Given the description of an element on the screen output the (x, y) to click on. 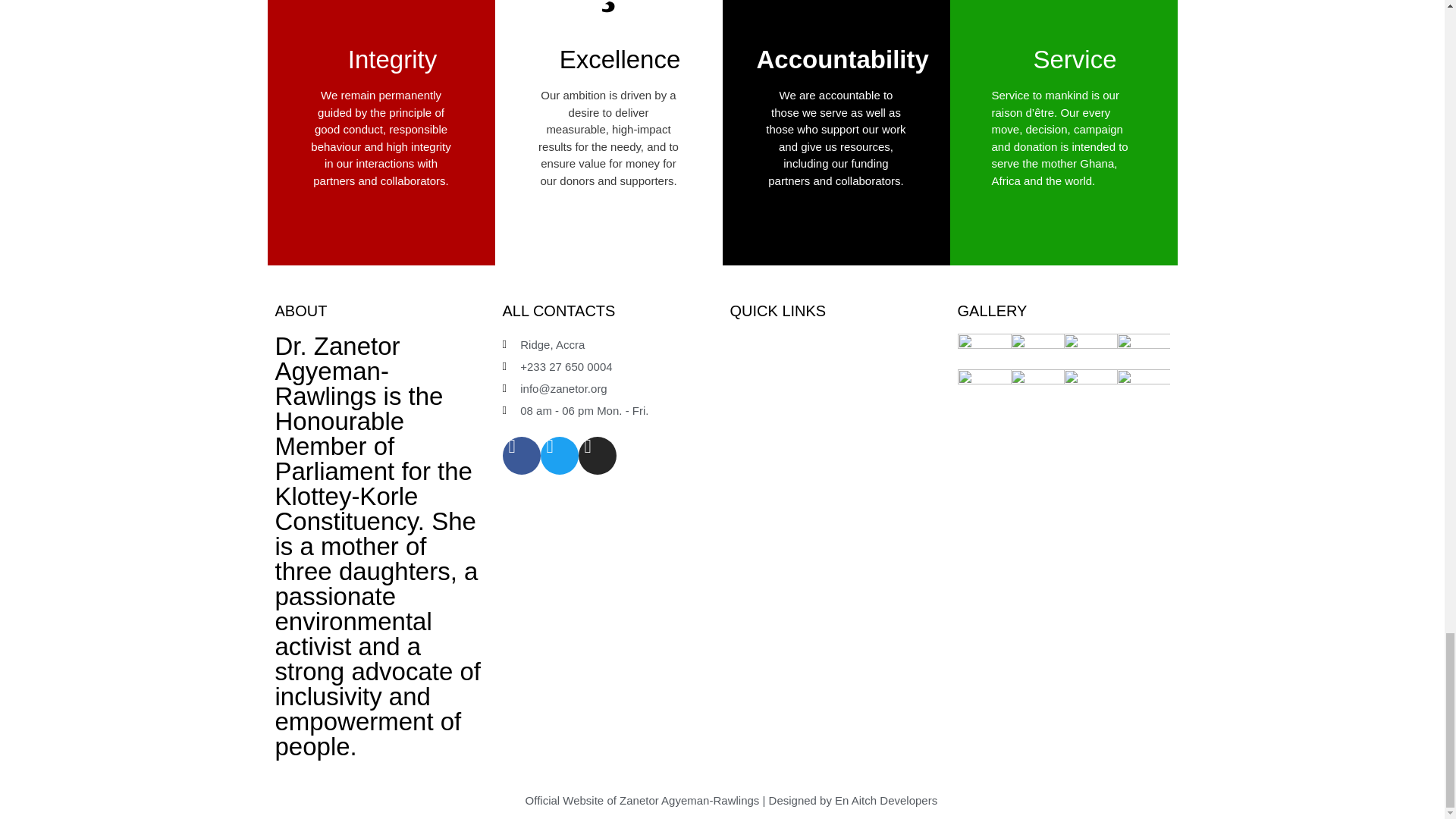
Ghana (745, 410)
Donate Now (760, 366)
Projects (749, 431)
About (743, 344)
